Given the description of an element on the screen output the (x, y) to click on. 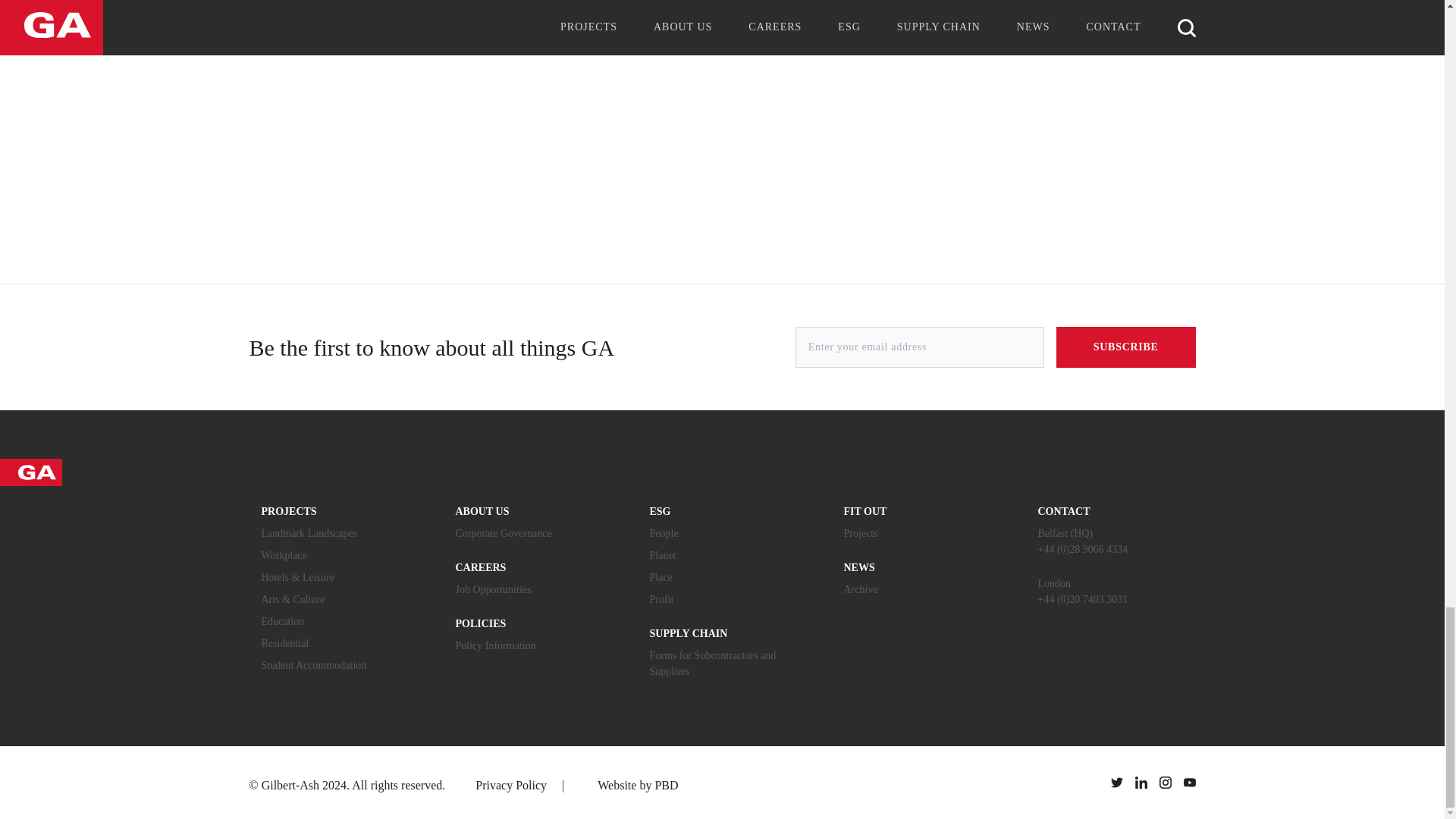
Subscribe (1126, 346)
